Given the description of an element on the screen output the (x, y) to click on. 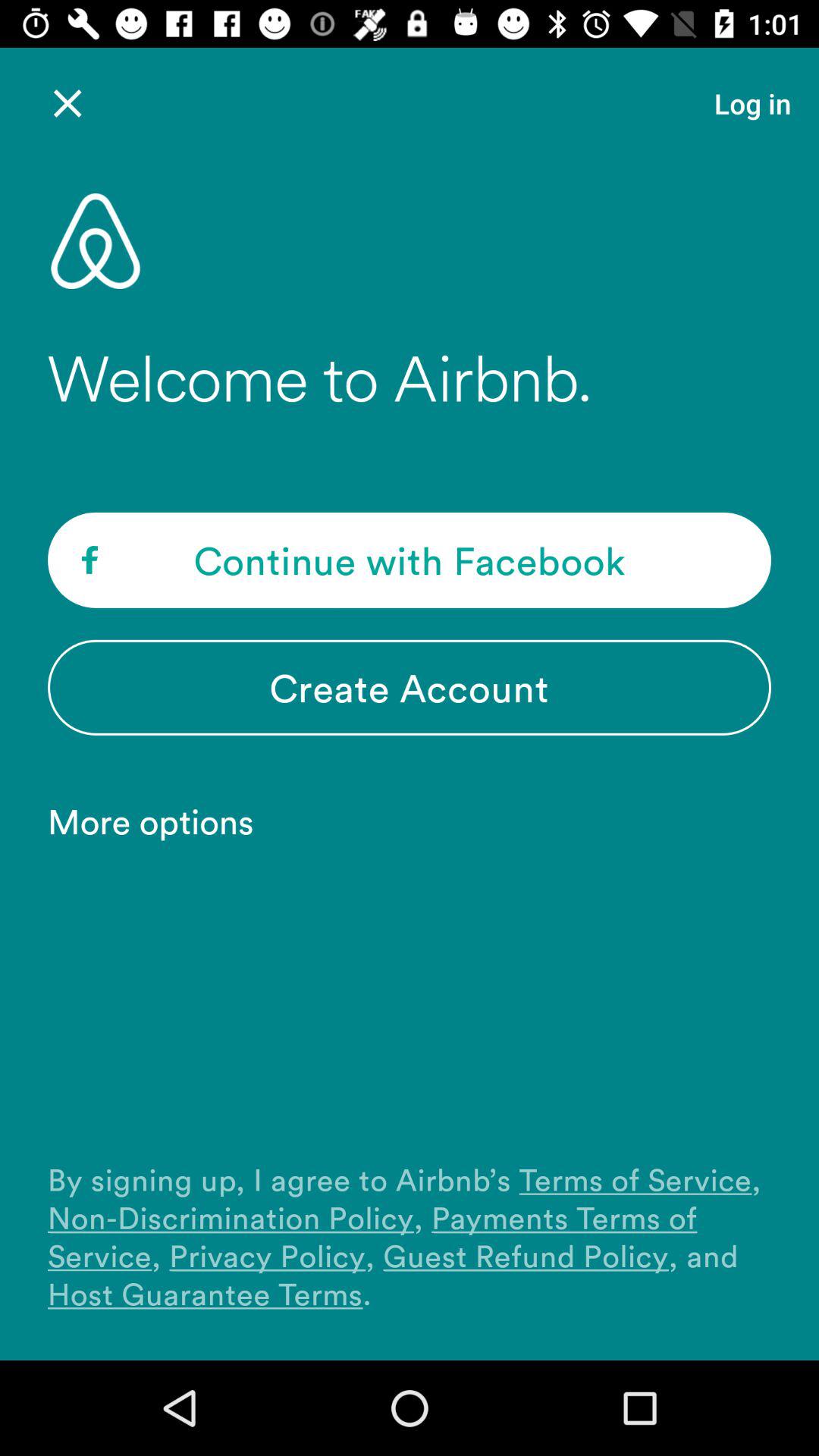
click item above more options item (409, 687)
